Given the description of an element on the screen output the (x, y) to click on. 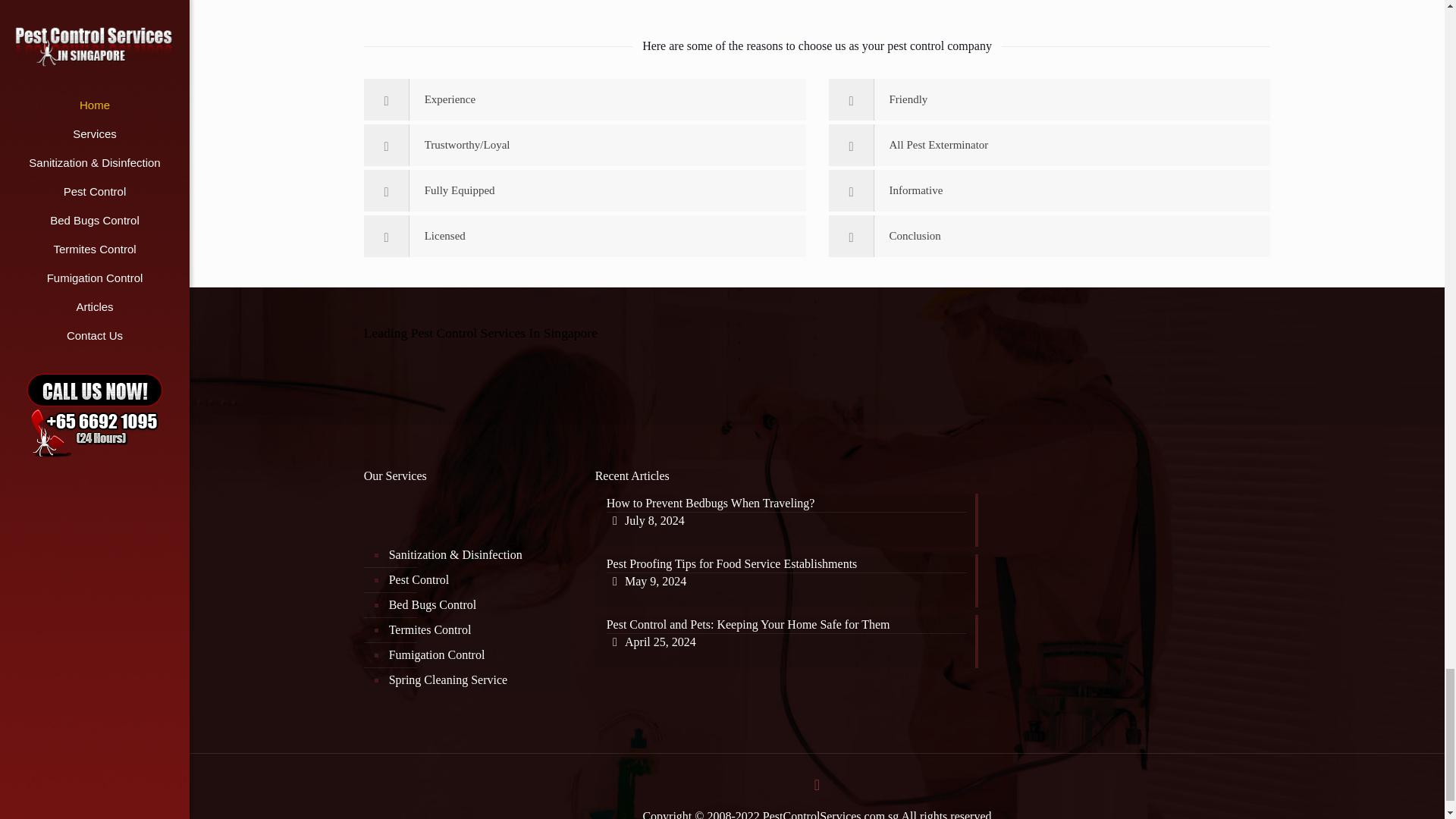
Fumigation Control (817, 520)
Bed Bugs Control (478, 655)
Pest Control (478, 605)
Termites Control (478, 580)
Spring Cleaning Service (478, 630)
